Given the description of an element on the screen output the (x, y) to click on. 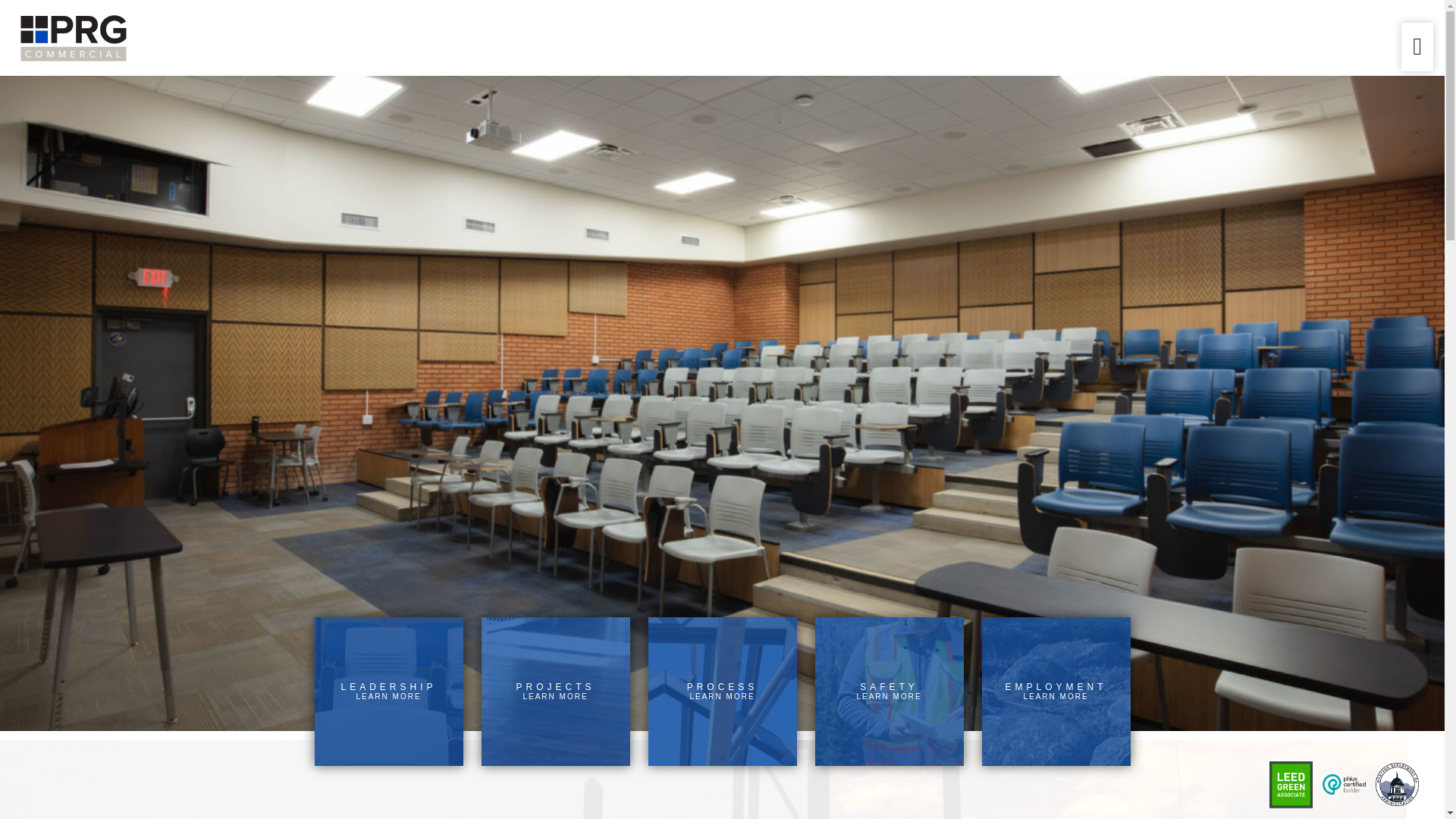
LEADERSHIP (722, 146)
CASE STUDIES (721, 691)
PROCESS (554, 691)
SAFETY (721, 189)
CONTACT (721, 277)
PROJECTS (722, 321)
EMPLOYMENT (1055, 691)
